Given the description of an element on the screen output the (x, y) to click on. 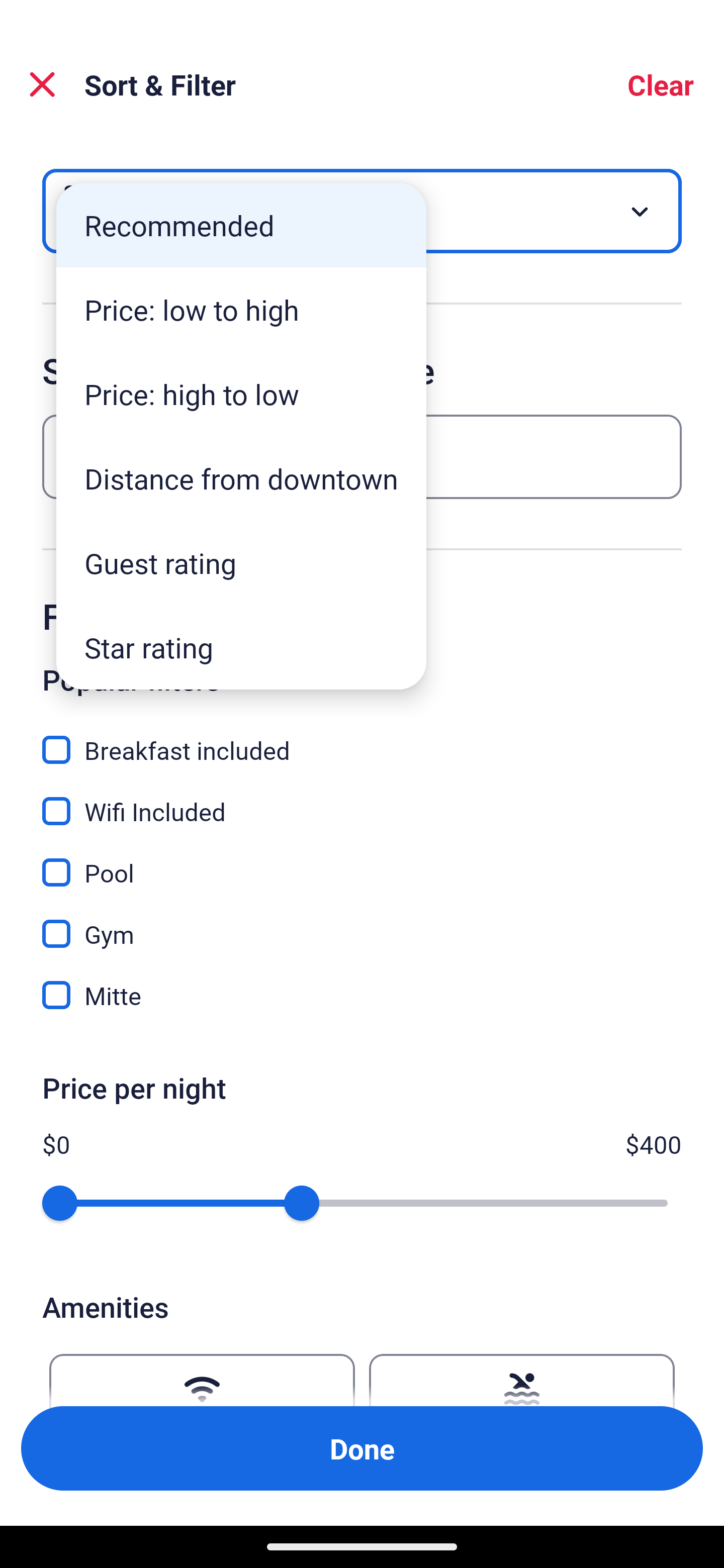
Price: low to high (241, 309)
Price: high to low (241, 393)
Distance from downtown (241, 477)
Guest rating (241, 562)
Star rating (241, 647)
